Given the description of an element on the screen output the (x, y) to click on. 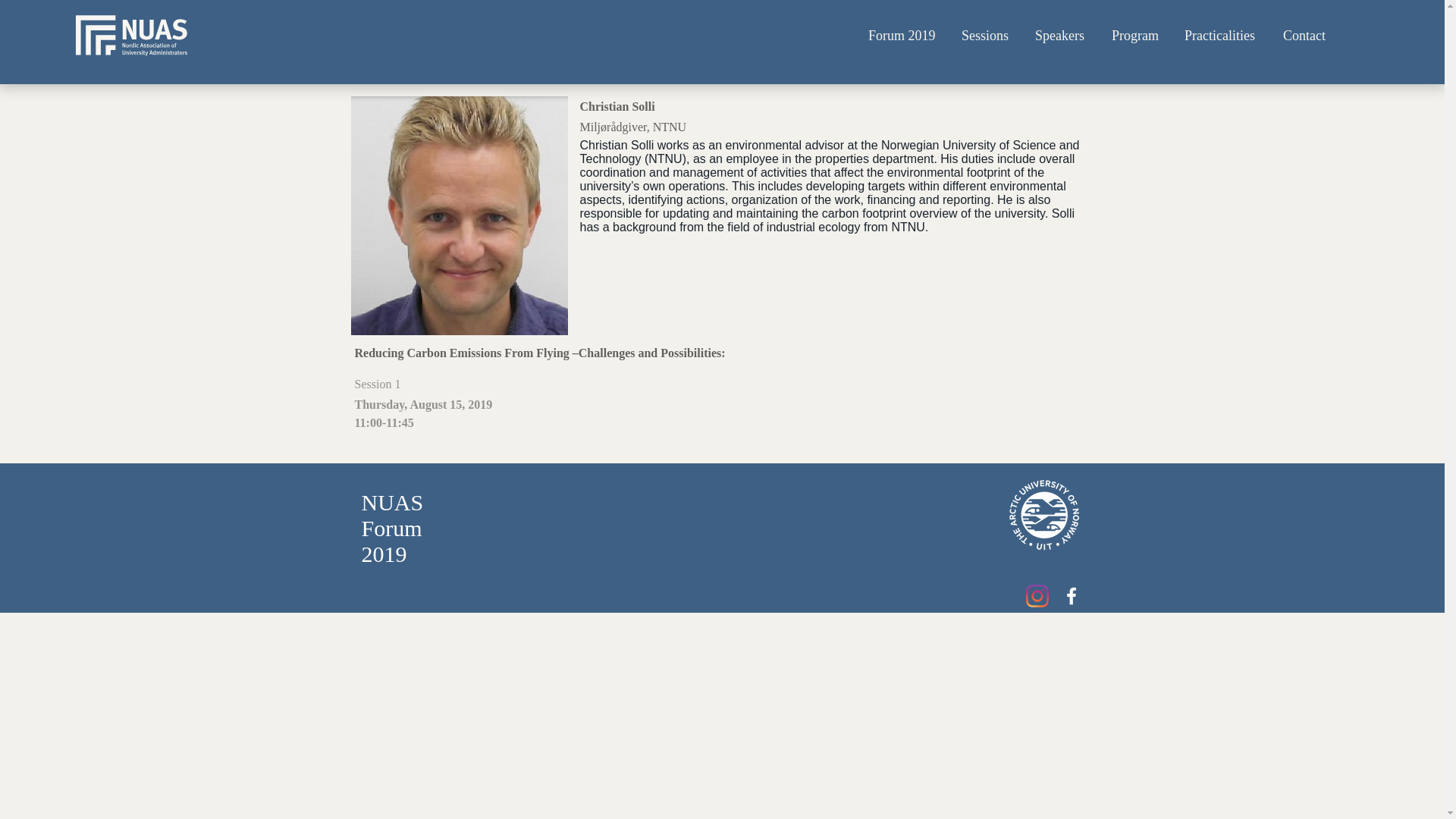
Forum 2019 (903, 35)
Program (1136, 35)
Speakers (1061, 35)
Solli1.PNG (458, 215)
Contact (1305, 35)
Sessions (986, 35)
Practicalities (1222, 35)
